Given the description of an element on the screen output the (x, y) to click on. 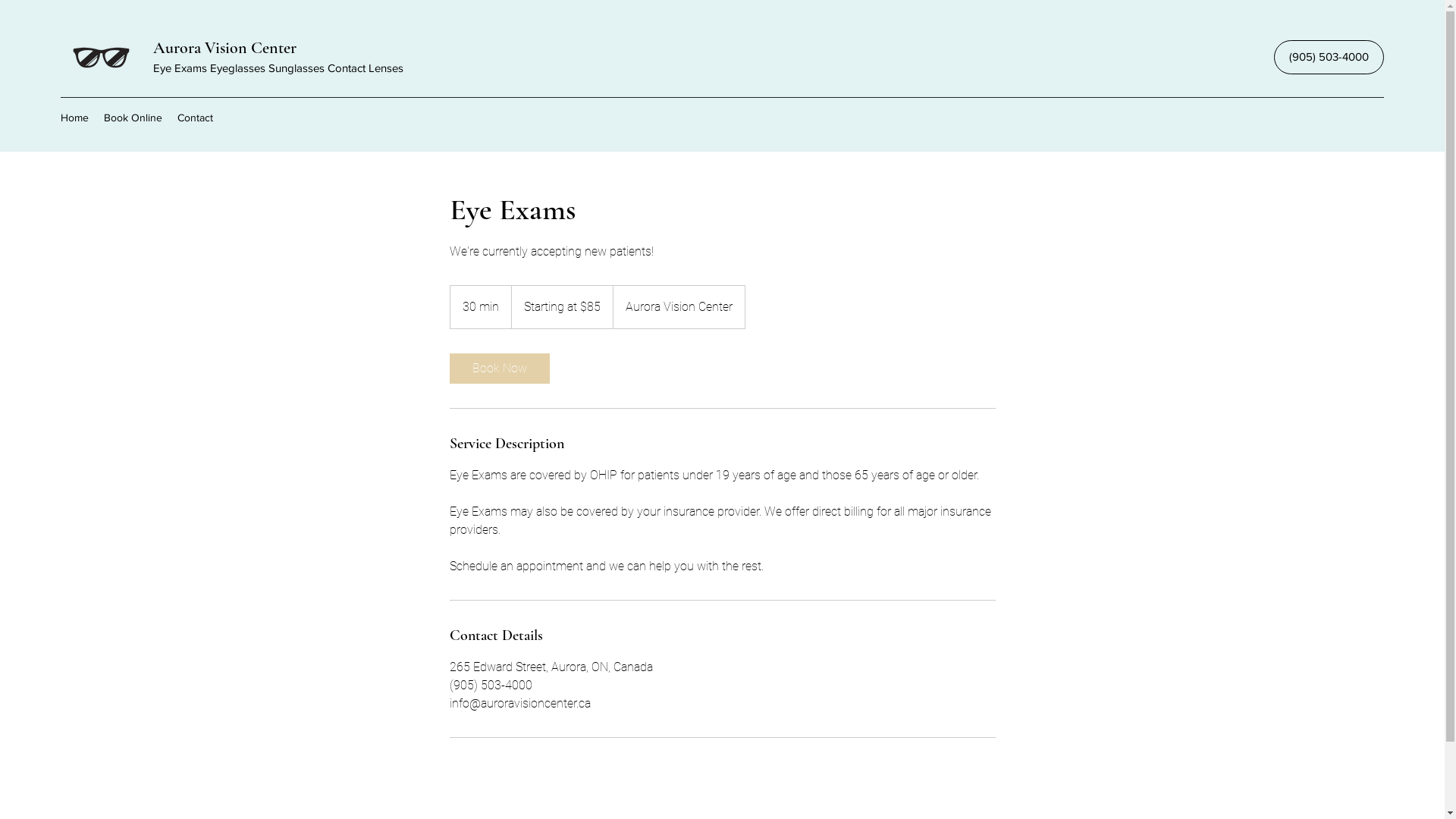
Aurora Vision Center Element type: text (224, 47)
Home Element type: text (74, 117)
Contact Element type: text (194, 117)
Book Now Element type: text (498, 368)
Book Online Element type: text (132, 117)
(905) 503-4000 Element type: text (1328, 57)
